Given the description of an element on the screen output the (x, y) to click on. 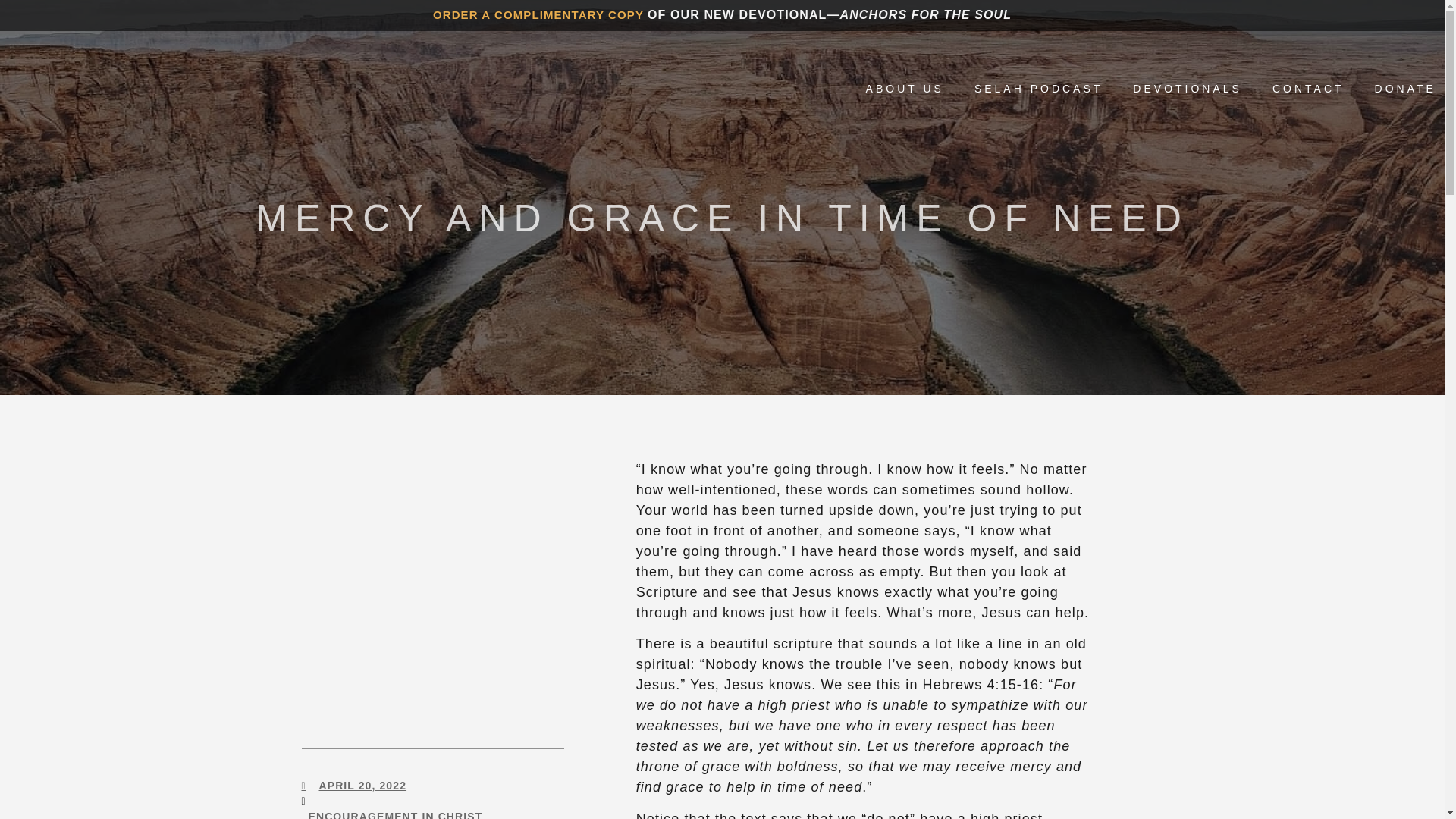
ABOUT US (904, 87)
CONTACT (1307, 87)
ORDER A COMPLIMENTARY COPY (539, 14)
SELAH PODCAST (1038, 87)
DEVOTIONALS (1186, 87)
